Given the description of an element on the screen output the (x, y) to click on. 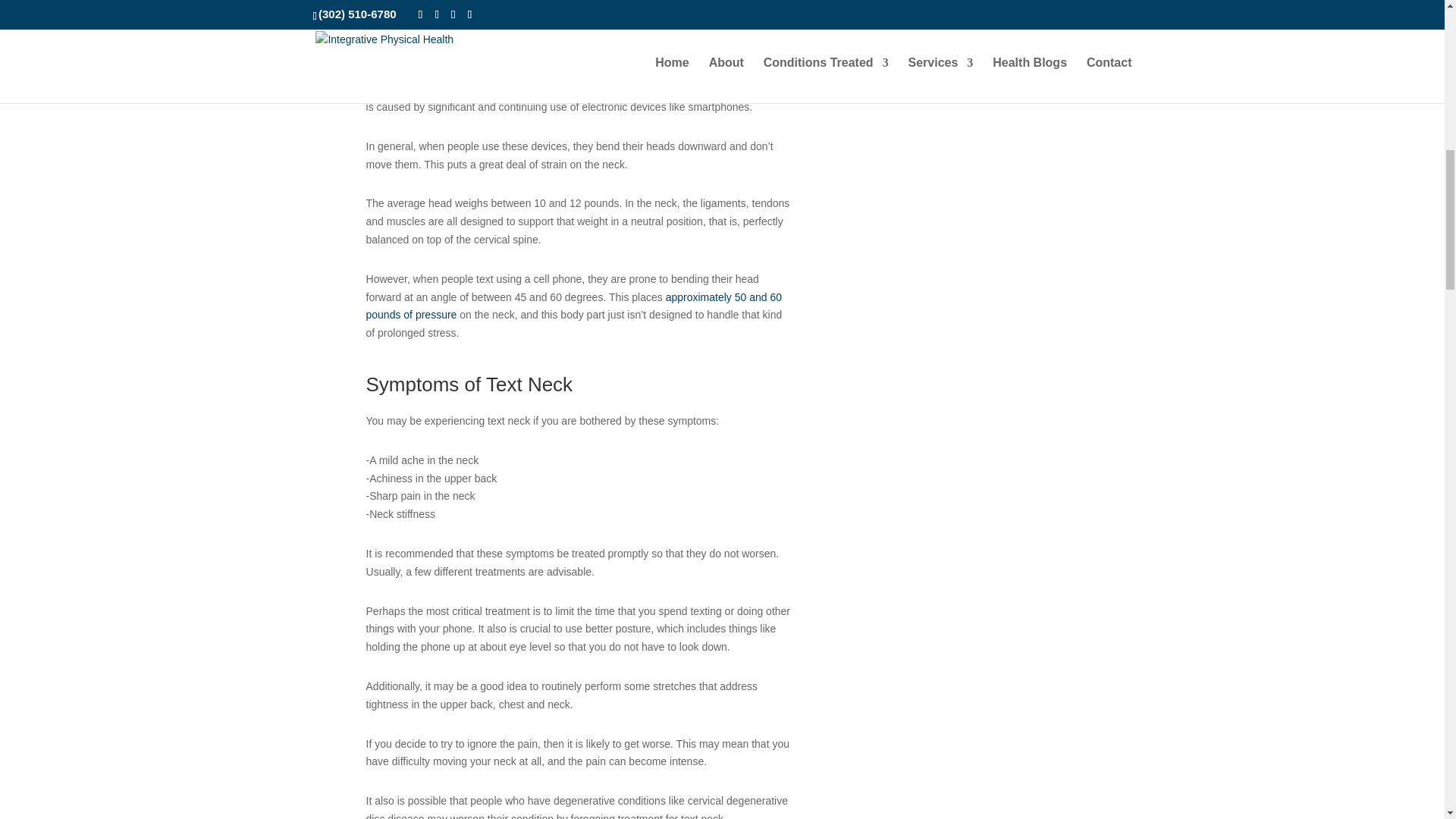
approximately 50 and 60 pounds of pressure (573, 306)
